Given the description of an element on the screen output the (x, y) to click on. 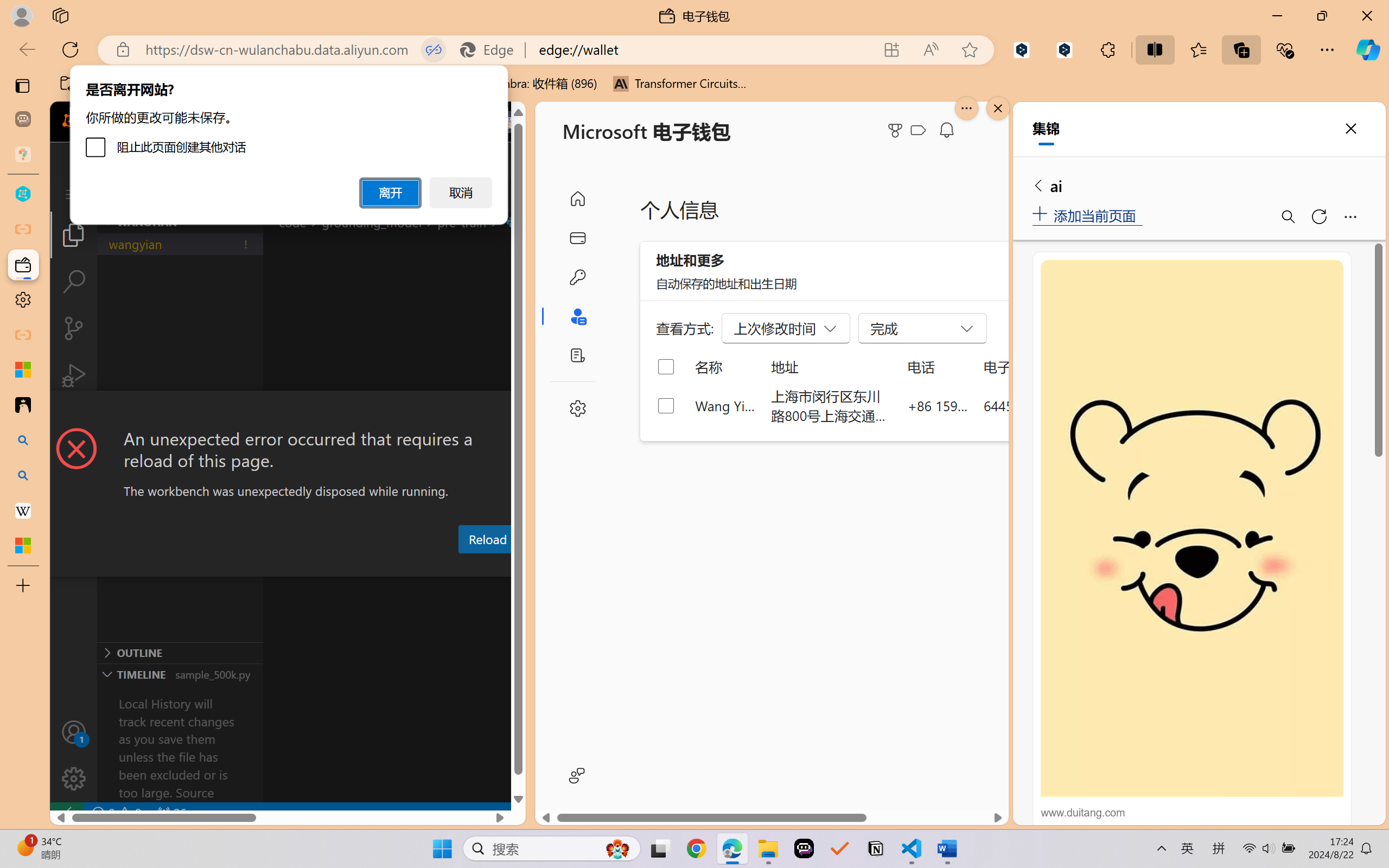
Extensions (Ctrl+Shift+X) (73, 422)
Earth - Wikipedia (22, 510)
Transformer Circuits Thread (680, 83)
Reload (486, 538)
Terminal (Ctrl+`) (553, 565)
Output (Ctrl+Shift+U) (377, 565)
